Given the description of an element on the screen output the (x, y) to click on. 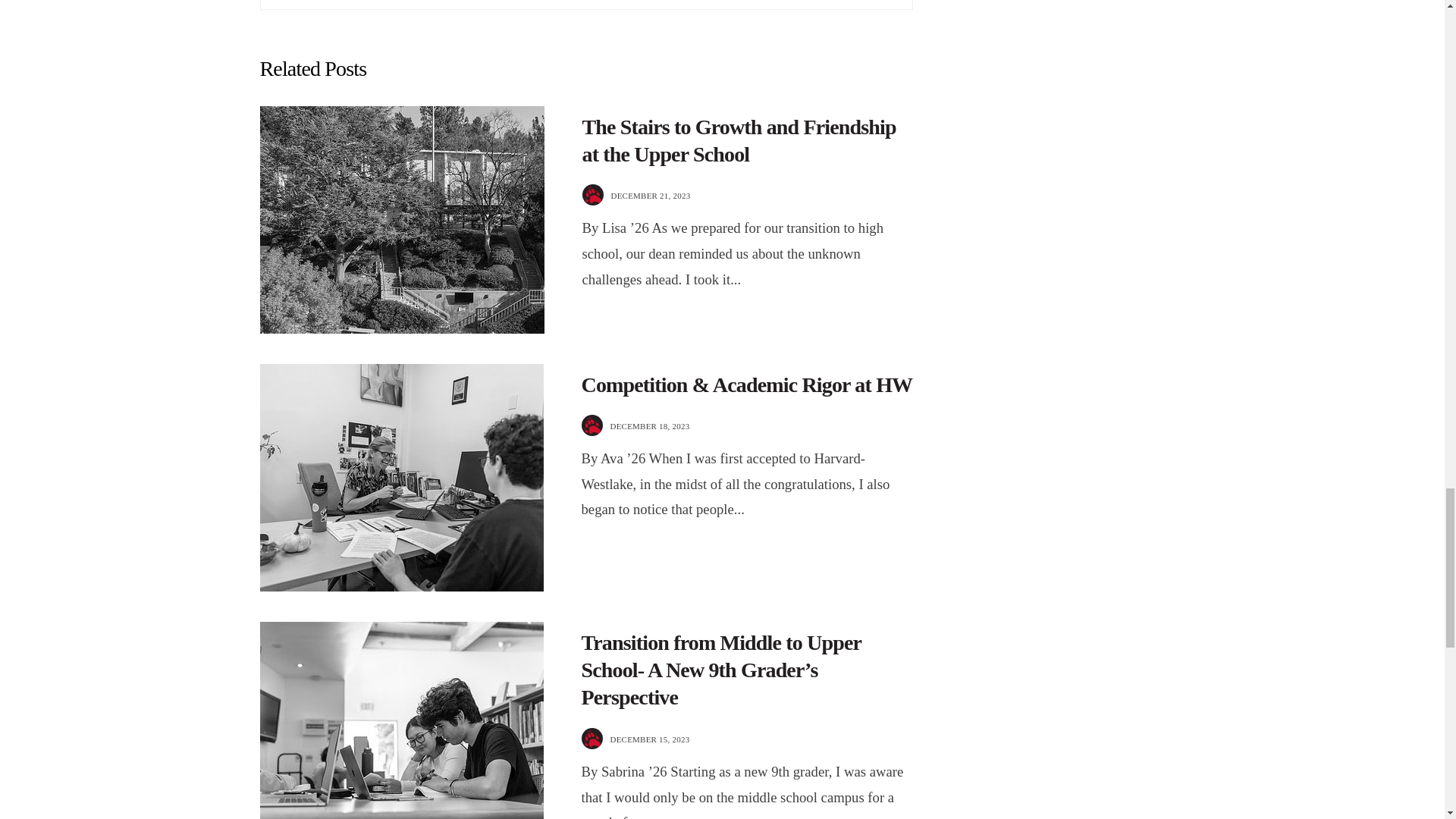
The Stairs to Growth and Friendship at the Upper School (739, 141)
